Given the description of an element on the screen output the (x, y) to click on. 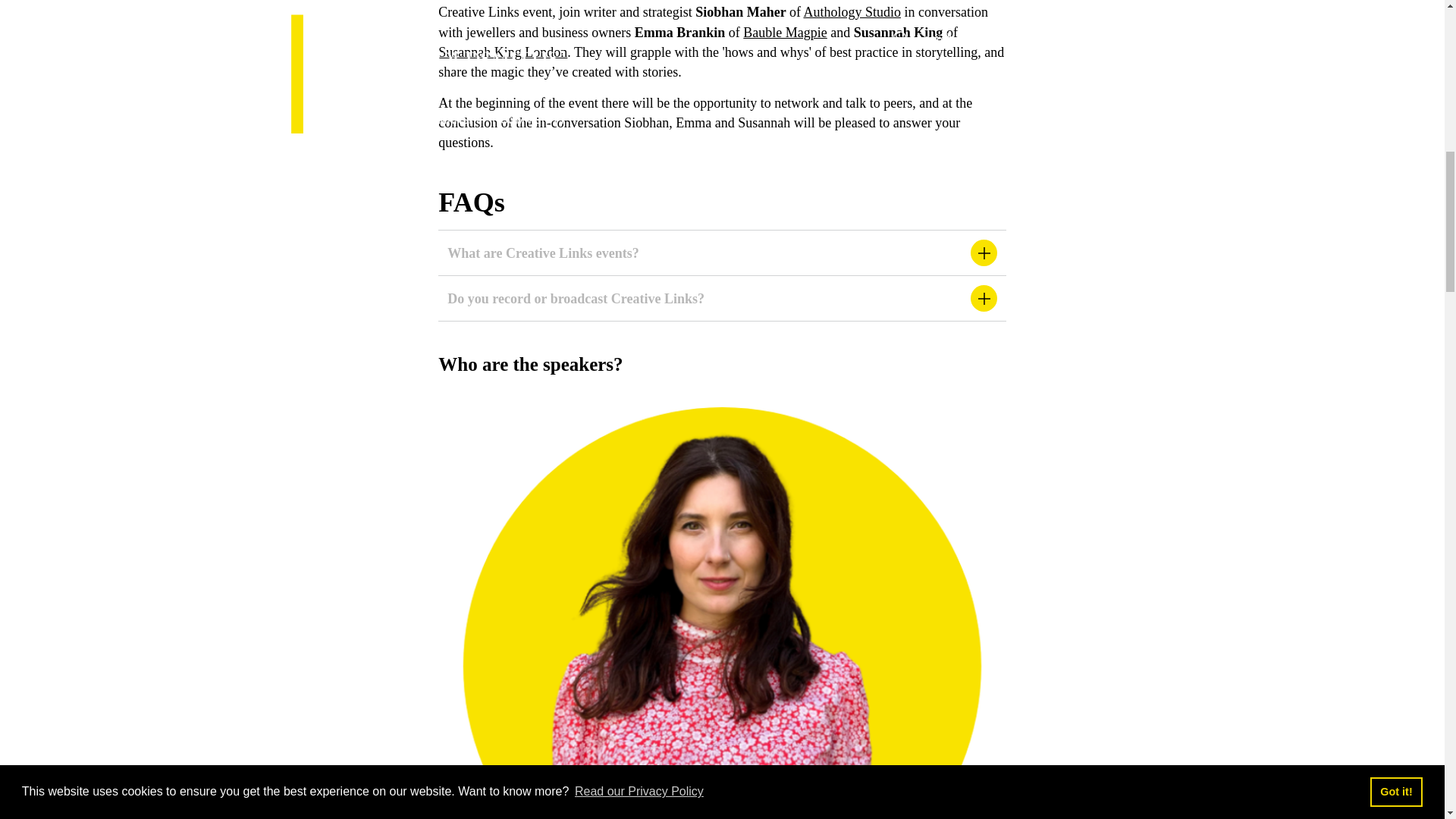
Authology Studio (852, 11)
Bauble Magpie (784, 32)
Susannah King London (502, 52)
Do you record or broadcast Creative Links? (722, 298)
What are Creative Links events? (722, 252)
